Given the description of an element on the screen output the (x, y) to click on. 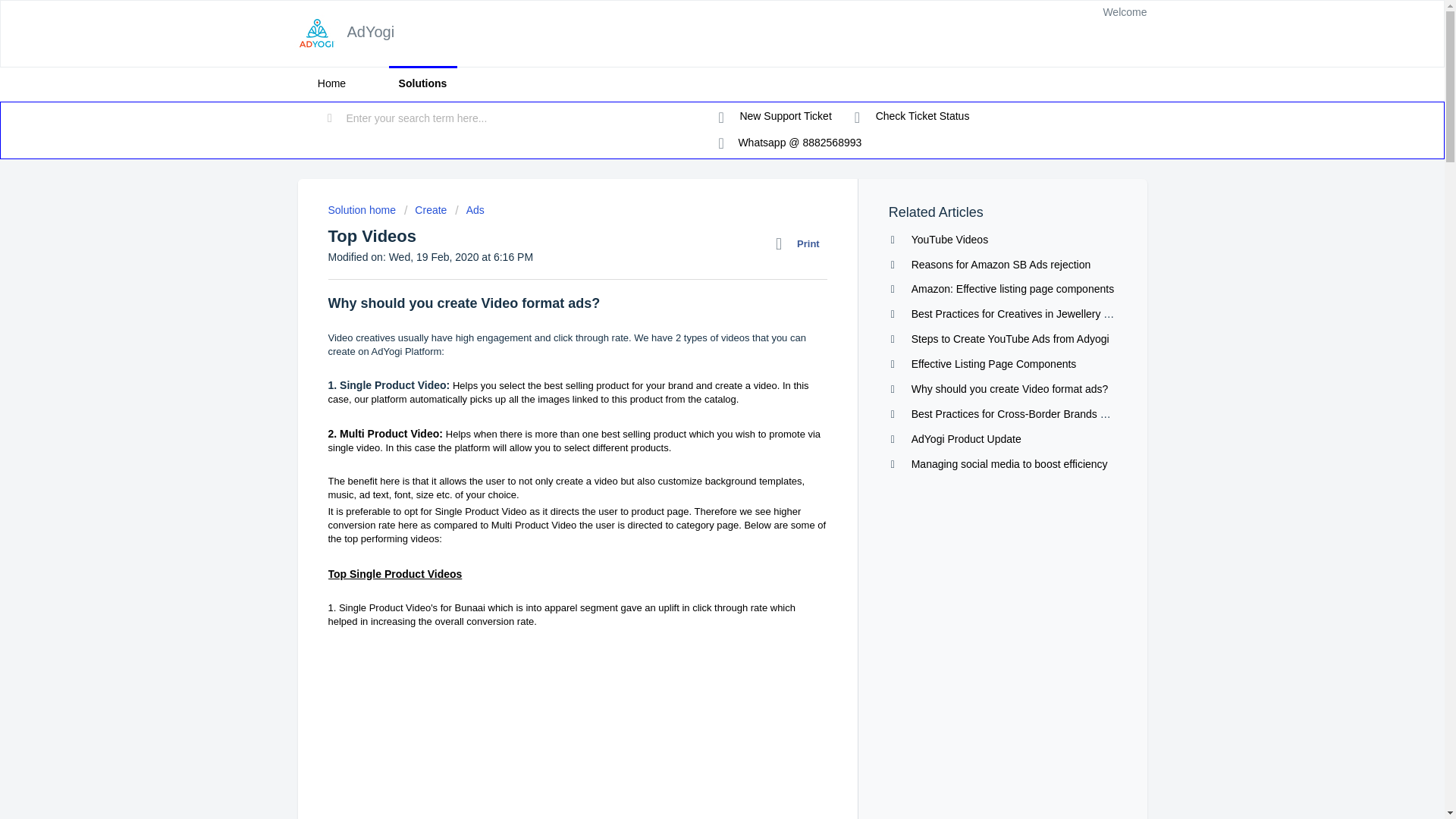
AdYogi Product Update (966, 439)
Effective Listing Page Components (994, 363)
Print this Article (801, 243)
Why should you create Video format ads? (1009, 388)
Solution home (362, 209)
Check ticket status (911, 116)
Check Ticket Status (911, 116)
New support ticket (775, 116)
Print (801, 243)
Ads (469, 209)
Reasons for Amazon SB Ads rejection (1000, 264)
Managing social media to boost efficiency (1009, 463)
Best Practices for Creatives in Jewellery Industry (1026, 313)
Create (425, 209)
Best Practices for Cross-Border Brands During Sale Events (1051, 413)
